Given the description of an element on the screen output the (x, y) to click on. 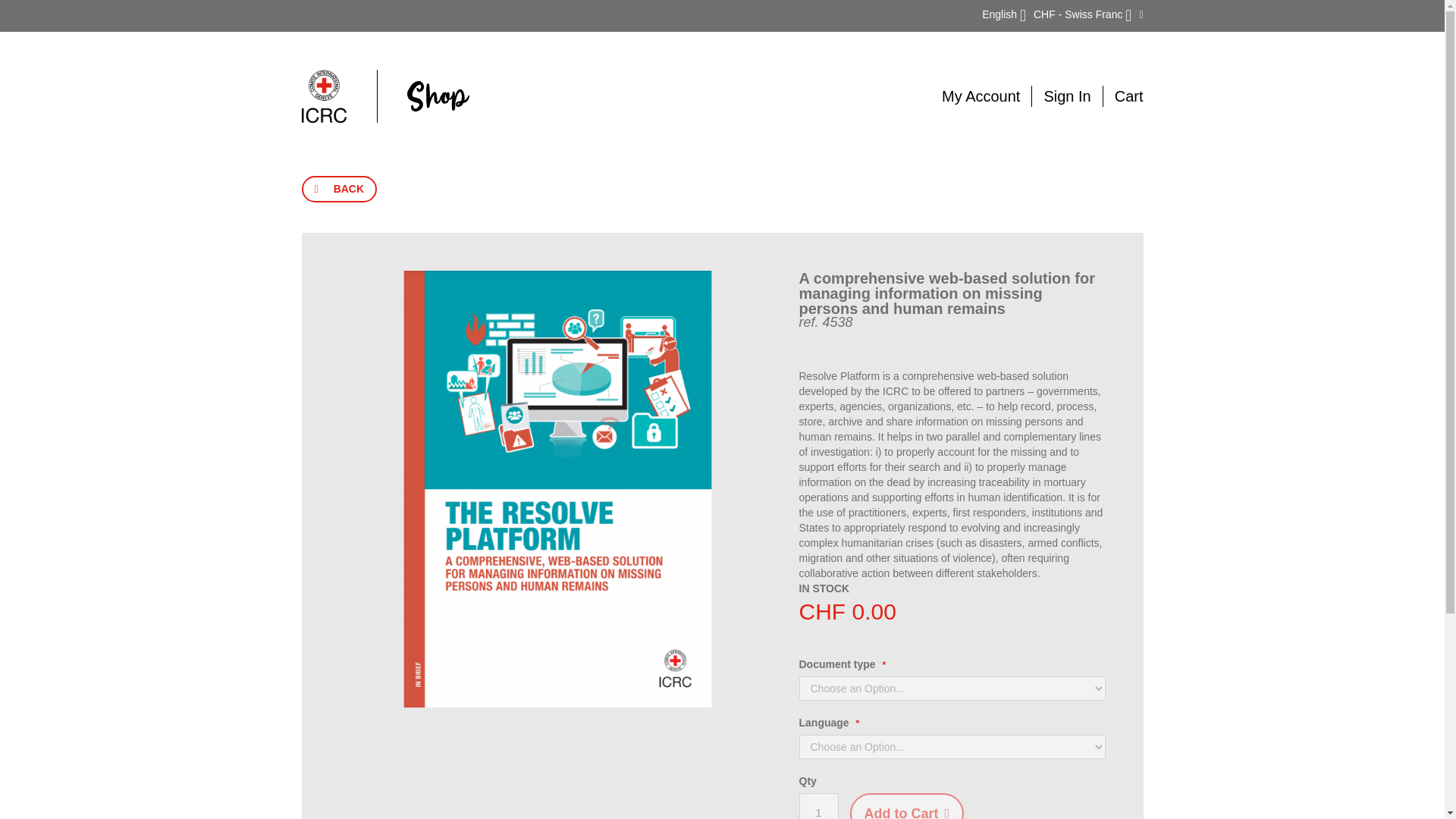
Add to Cart (905, 806)
1 (818, 806)
My Account (981, 95)
Sign In (1066, 95)
Go to Home page (385, 95)
Availability (824, 589)
Add to Cart (905, 806)
Qty (818, 806)
Cart (1128, 96)
BACK (339, 189)
